Given the description of an element on the screen output the (x, y) to click on. 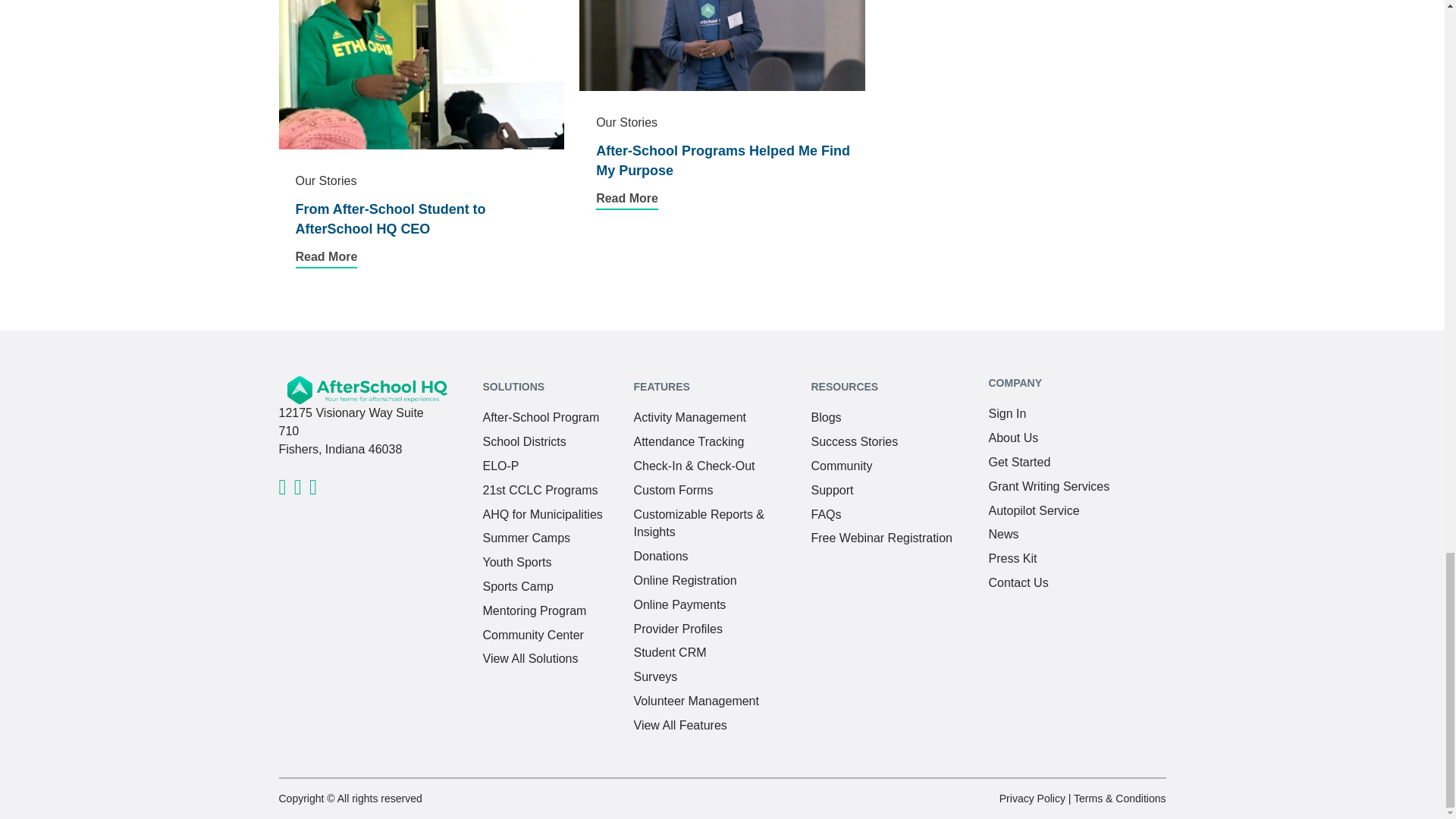
attachment-5ffdbbfe9ecea8262e80a286 (312, 490)
ahq-logo (366, 389)
attachment-5ffdbbfe9ecea8262e80a286 (297, 490)
attachment-5ffdbbfe9ecea8262e80a286 (282, 490)
